Given the description of an element on the screen output the (x, y) to click on. 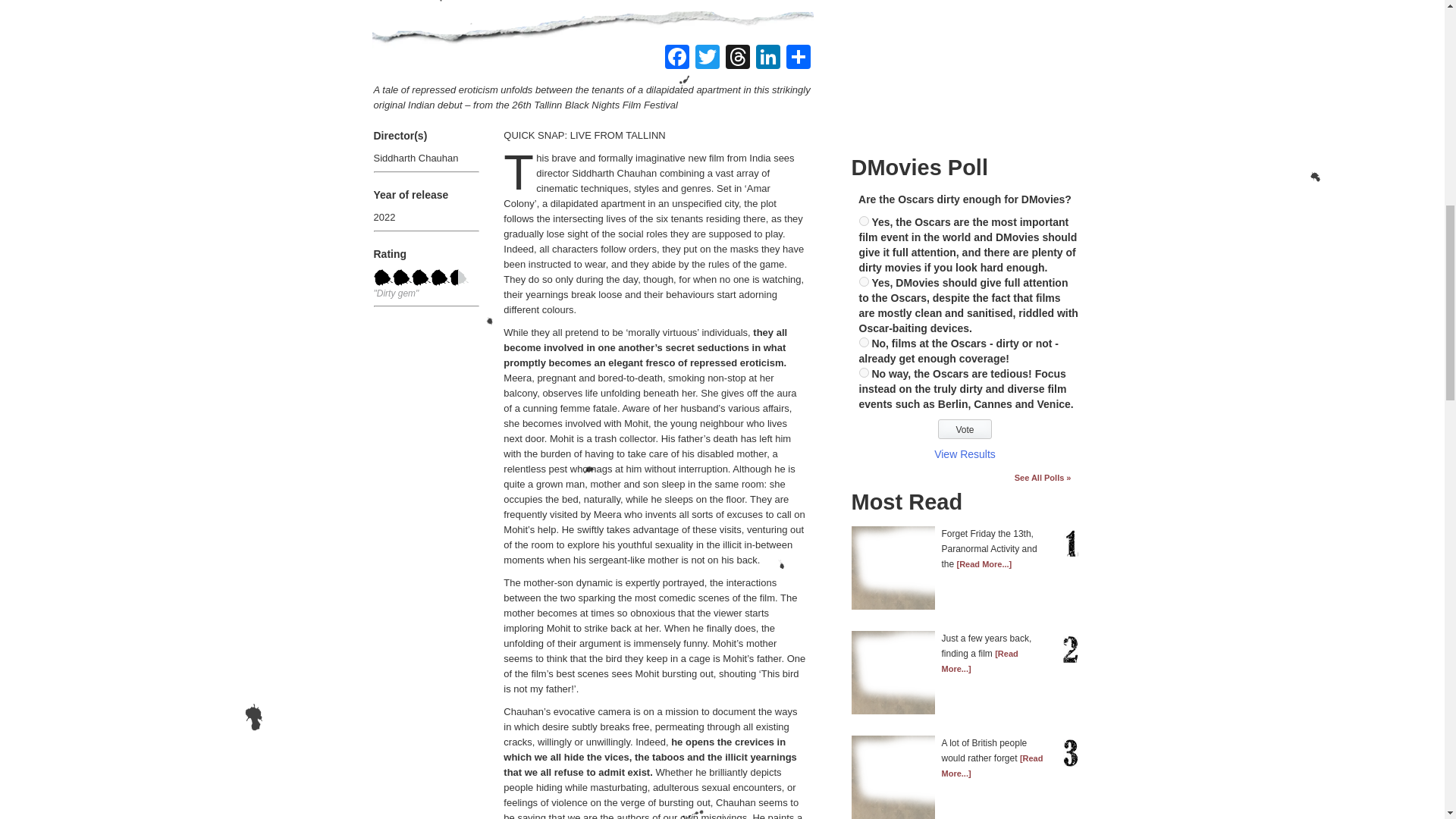
10 (863, 221)
Twitter (706, 58)
LinkedIn (767, 58)
Threads (737, 58)
11 (863, 281)
Greasy movie (419, 277)
Twitter (706, 58)
Facebook (676, 58)
Mostly clean movie (402, 277)
Thoroughly sanistised movie (381, 277)
View Results (964, 453)
Threads (737, 58)
12 (863, 342)
Facebook (676, 58)
LinkedIn (767, 58)
